Given the description of an element on the screen output the (x, y) to click on. 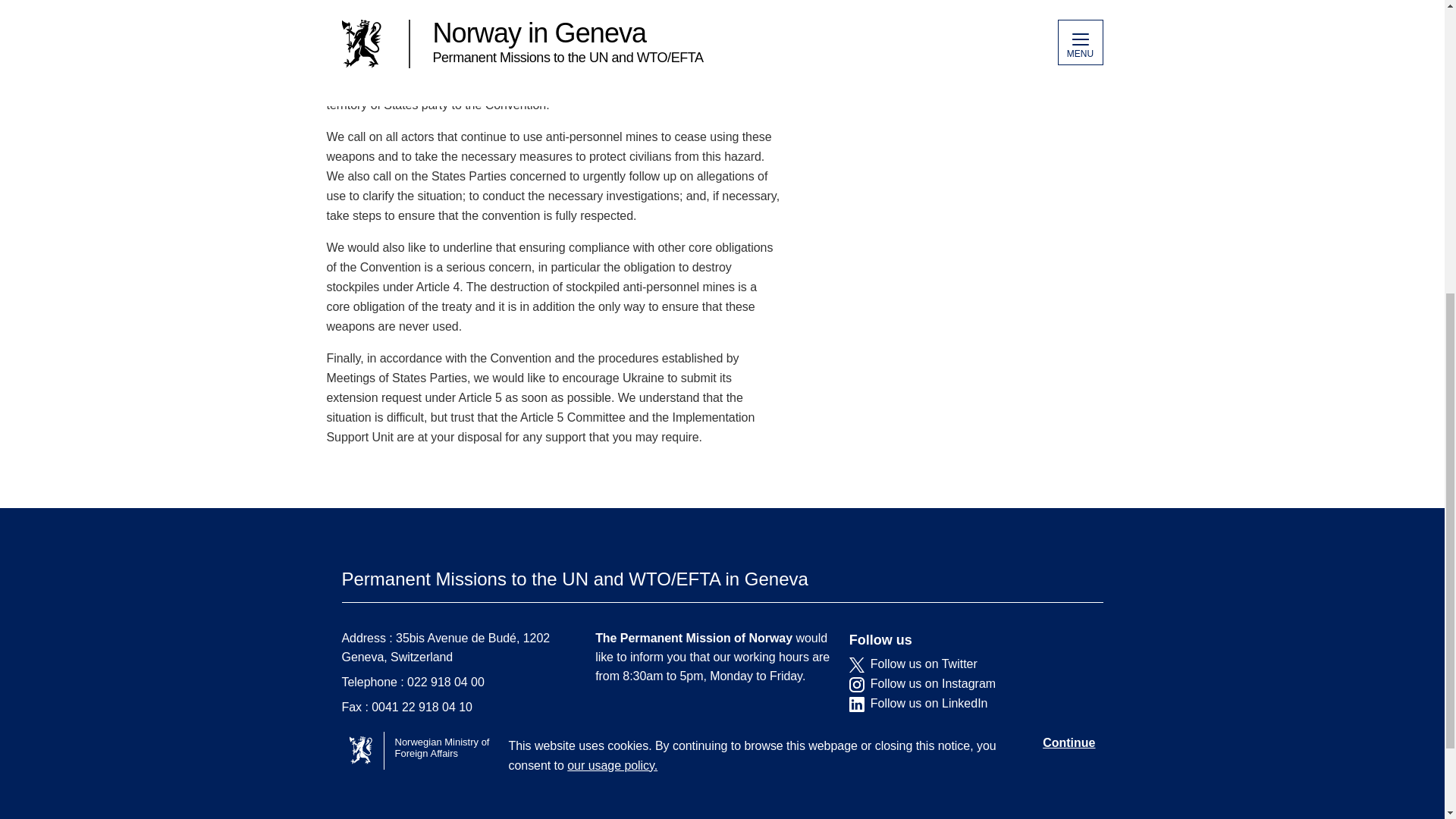
Follow us on Twitter (964, 663)
Follow us on Instagram (964, 684)
Follow us on LinkedIn (964, 703)
our usage policy. (612, 256)
Continue (1068, 233)
